Given the description of an element on the screen output the (x, y) to click on. 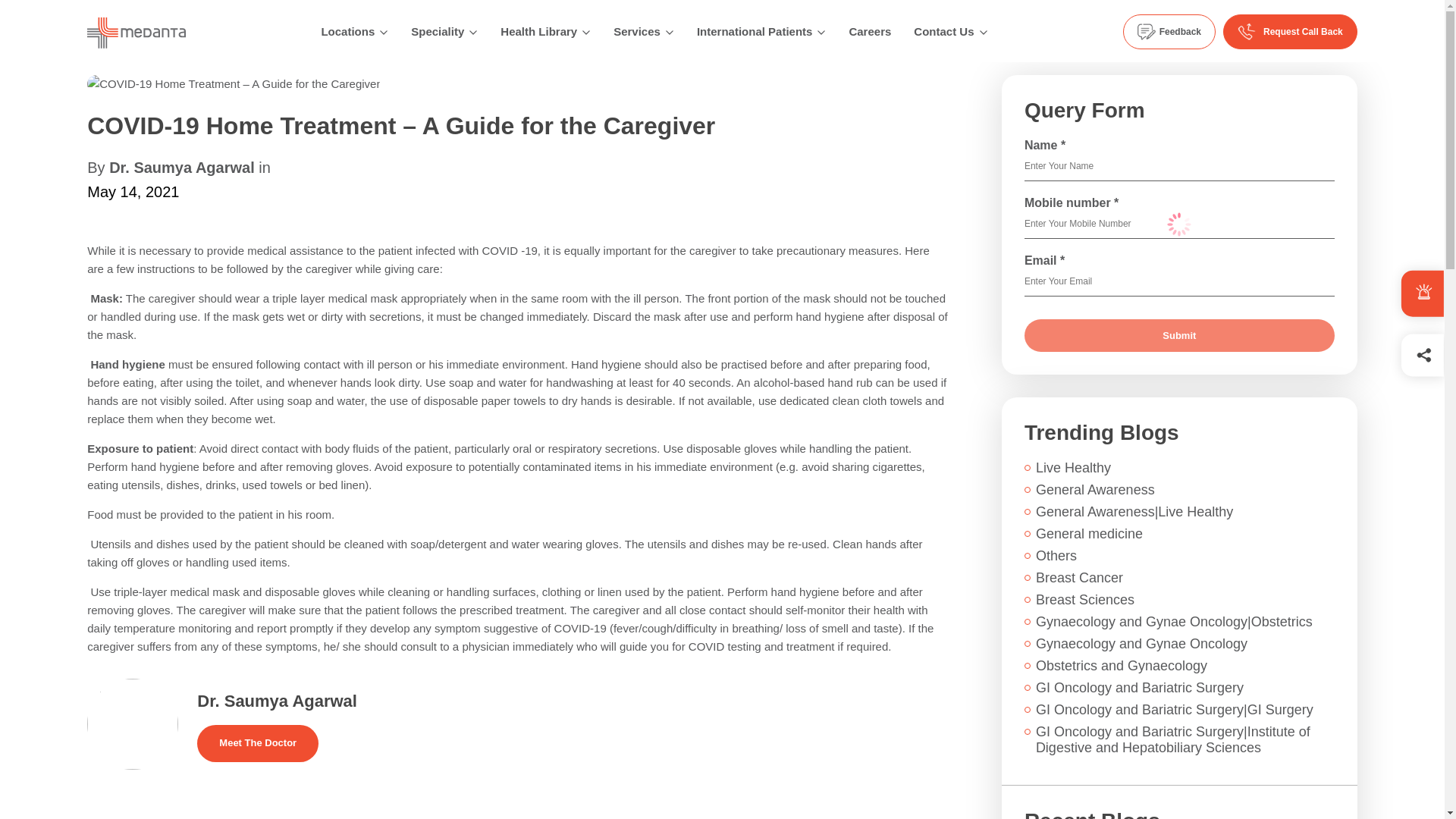
Locations (347, 31)
Speciality (437, 31)
Health Library (538, 31)
